Given the description of an element on the screen output the (x, y) to click on. 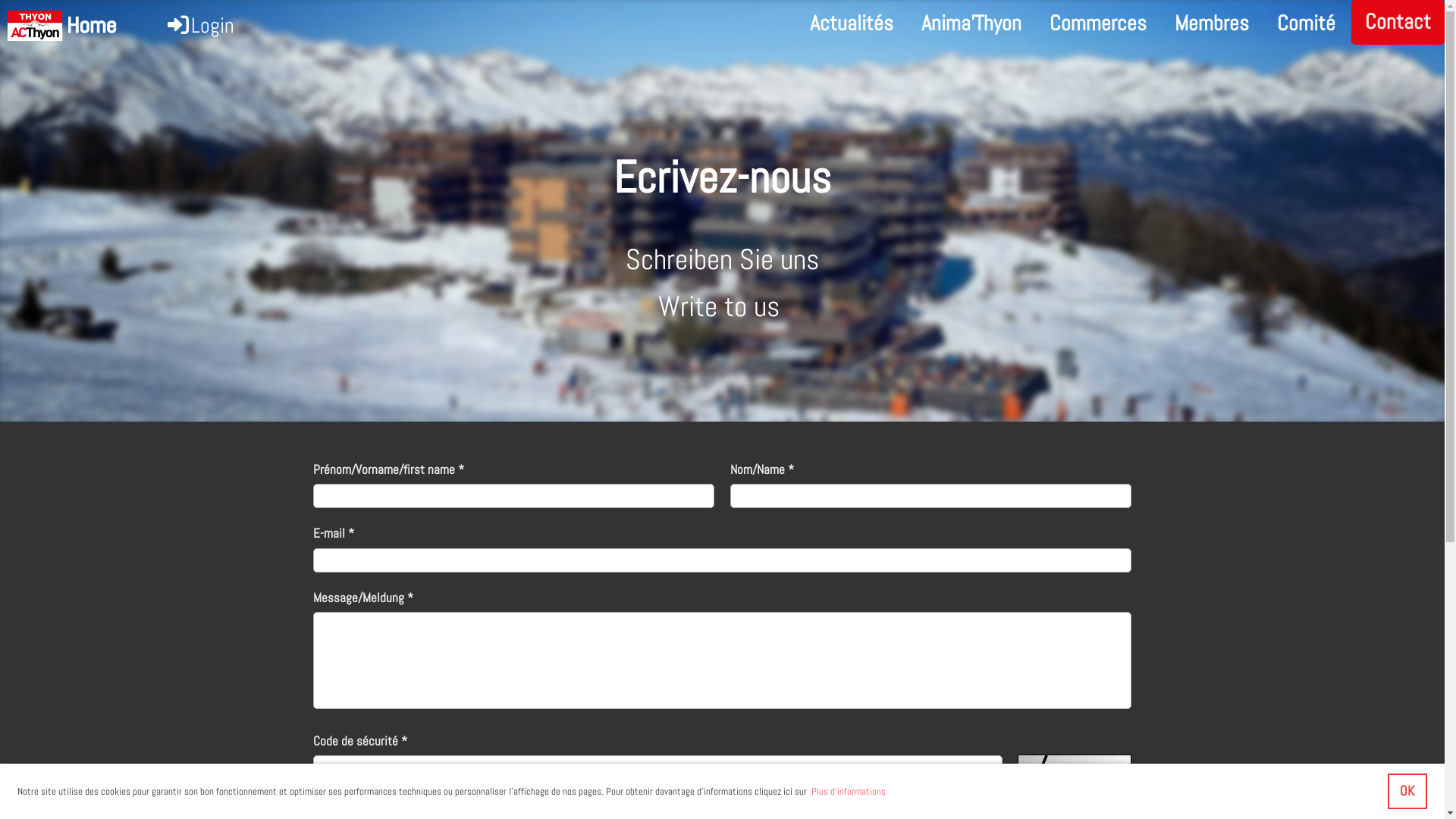
Commerces Element type: text (1097, 23)
OK Element type: text (1407, 791)
Contact Element type: text (1397, 22)
Login Element type: text (199, 25)
Plus d'informations Element type: text (848, 790)
Anima'Thyon Element type: text (971, 23)
Membres Element type: text (1211, 23)
